Given the description of an element on the screen output the (x, y) to click on. 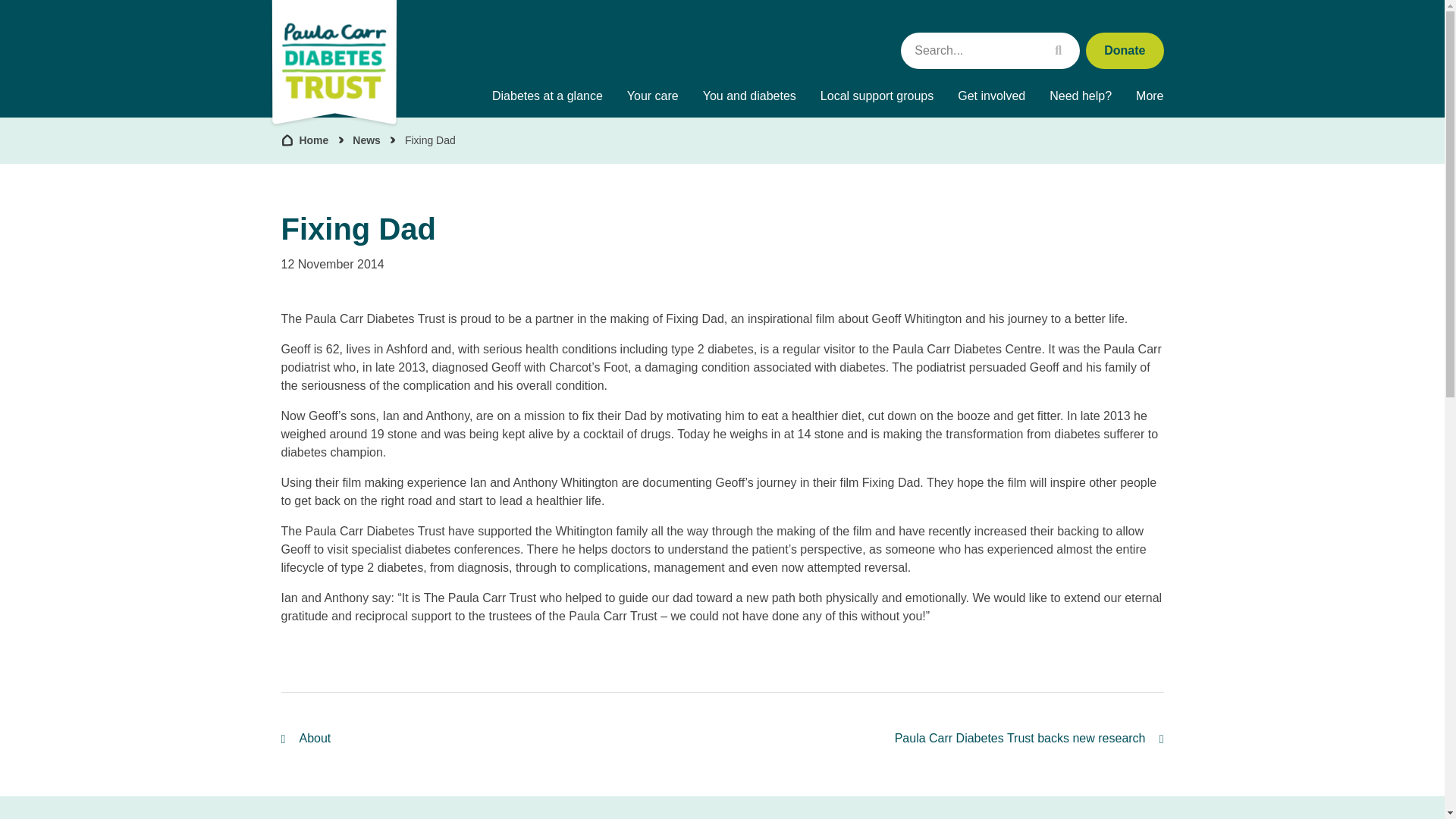
Paula Carr Diabetes Trust backs new research (1029, 738)
More (1149, 96)
Need help? (1080, 96)
Paula Carr Diabetes Trust (333, 64)
Get involved (990, 96)
Diabetes at a glance (547, 96)
Your care (652, 96)
You and diabetes (749, 96)
Local support groups (876, 96)
About (305, 738)
News (366, 140)
Donate (1124, 50)
Home (305, 140)
